Given the description of an element on the screen output the (x, y) to click on. 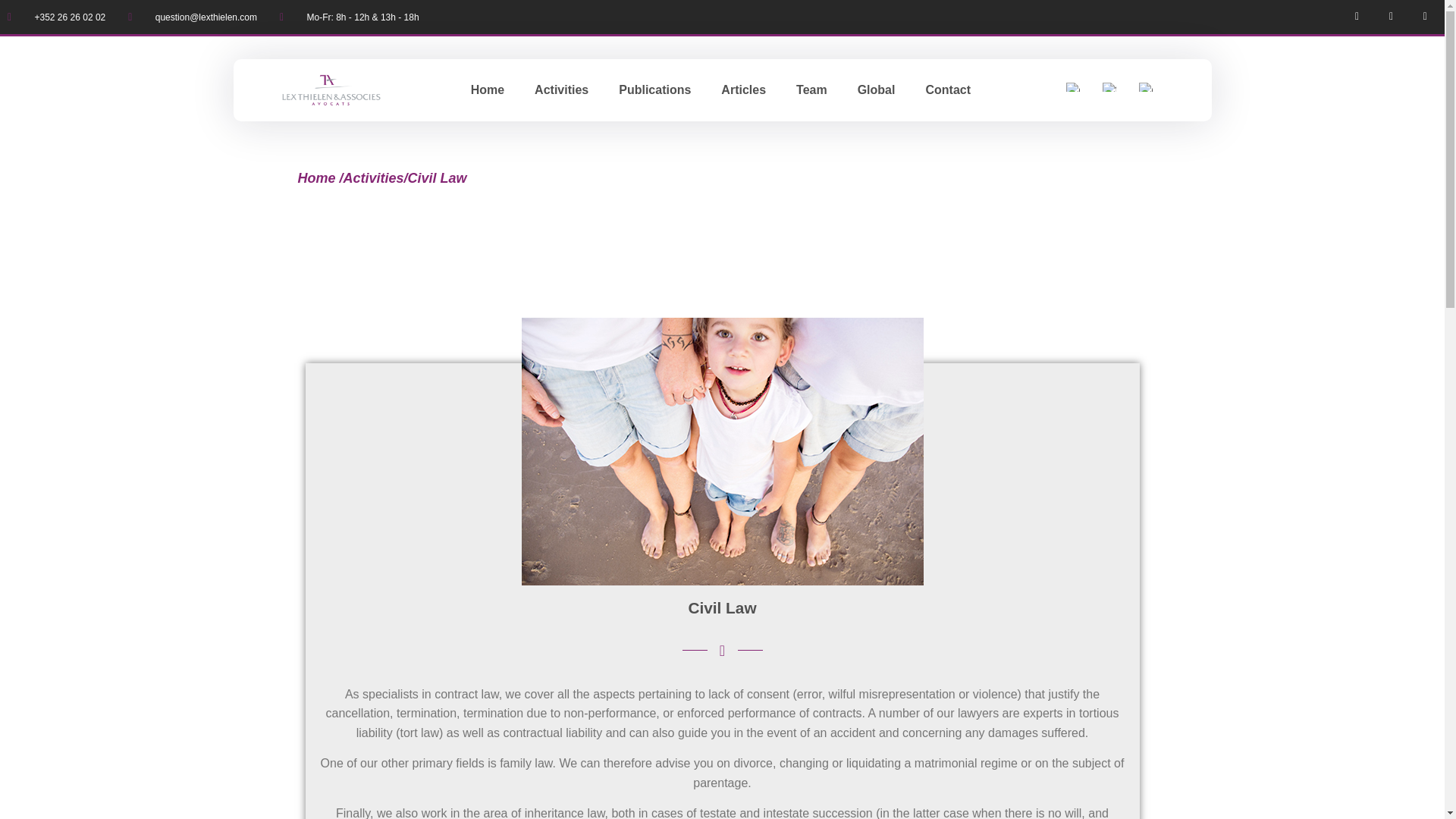
Contact (947, 89)
Activities (561, 89)
French (1109, 86)
English (1072, 86)
Global (877, 89)
Articles (743, 89)
Home (487, 89)
Team (811, 89)
Home (315, 177)
German (1145, 86)
Publications (655, 89)
Activities (373, 177)
